Given the description of an element on the screen output the (x, y) to click on. 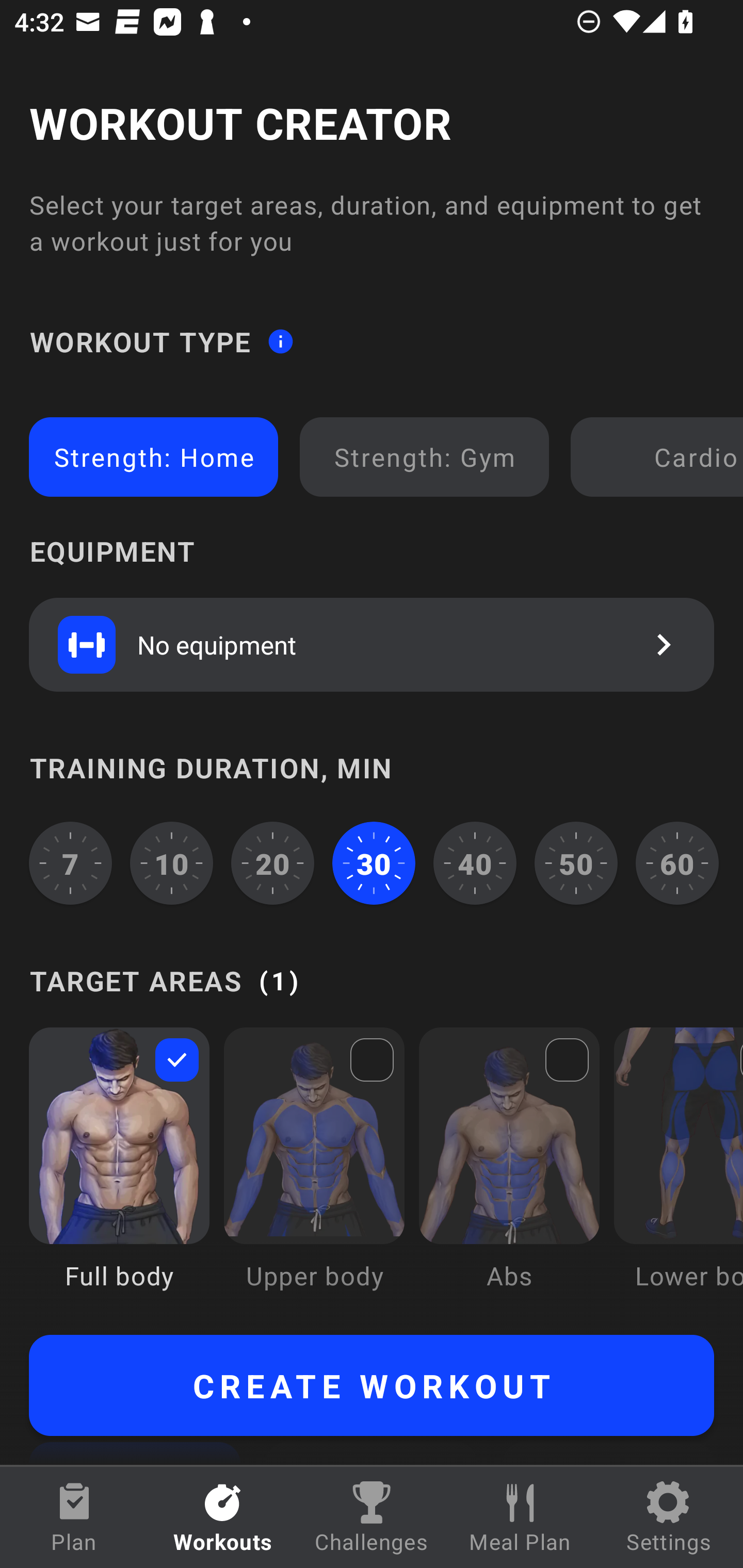
Workout type information button (280, 340)
Strength: Gym (423, 457)
Cardio (660, 457)
No equipment (371, 644)
7 (70, 862)
10 (171, 862)
20 (272, 862)
30 (373, 862)
40 (474, 862)
50 (575, 862)
60 (676, 862)
Upper body (313, 1172)
Abs (509, 1172)
Lower body (678, 1172)
CREATE WORKOUT (371, 1385)
 Plan  (74, 1517)
 Challenges  (371, 1517)
 Meal Plan  (519, 1517)
 Settings  (668, 1517)
